Given the description of an element on the screen output the (x, y) to click on. 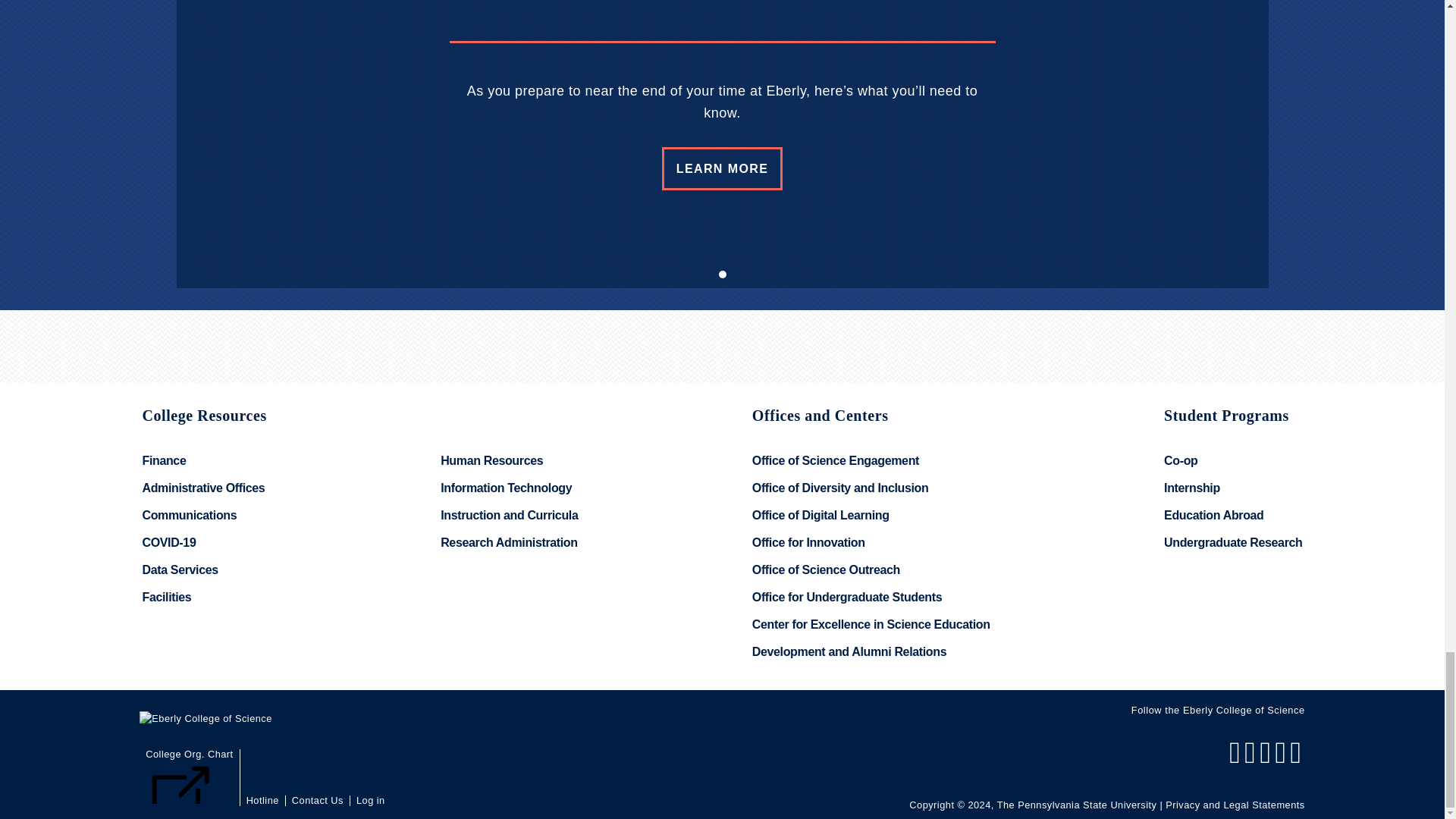
Penn State Eberly College of Science Facebook (1236, 758)
Penn State Eberly College of Science Youtube (1297, 758)
Penn State Eberly College of Science Instagram (1267, 758)
Penn State Eberly College of Science Linkedin (1282, 758)
